Given the description of an element on the screen output the (x, y) to click on. 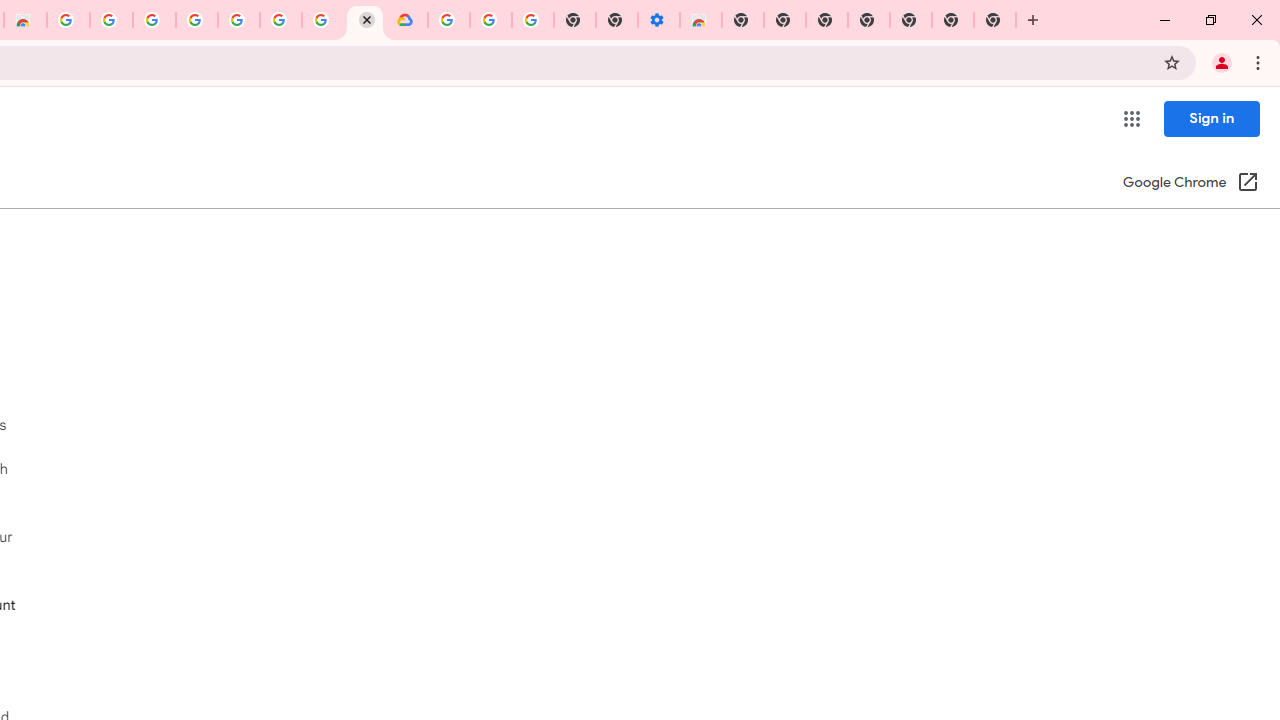
Turn cookies on or off - Computer - Google Account Help (533, 20)
Ad Settings (154, 20)
Settings - Accessibility (658, 20)
Sign in - Google Accounts (196, 20)
Google Account Help (238, 20)
Google Chrome (Open in a new window) (1190, 183)
